Given the description of an element on the screen output the (x, y) to click on. 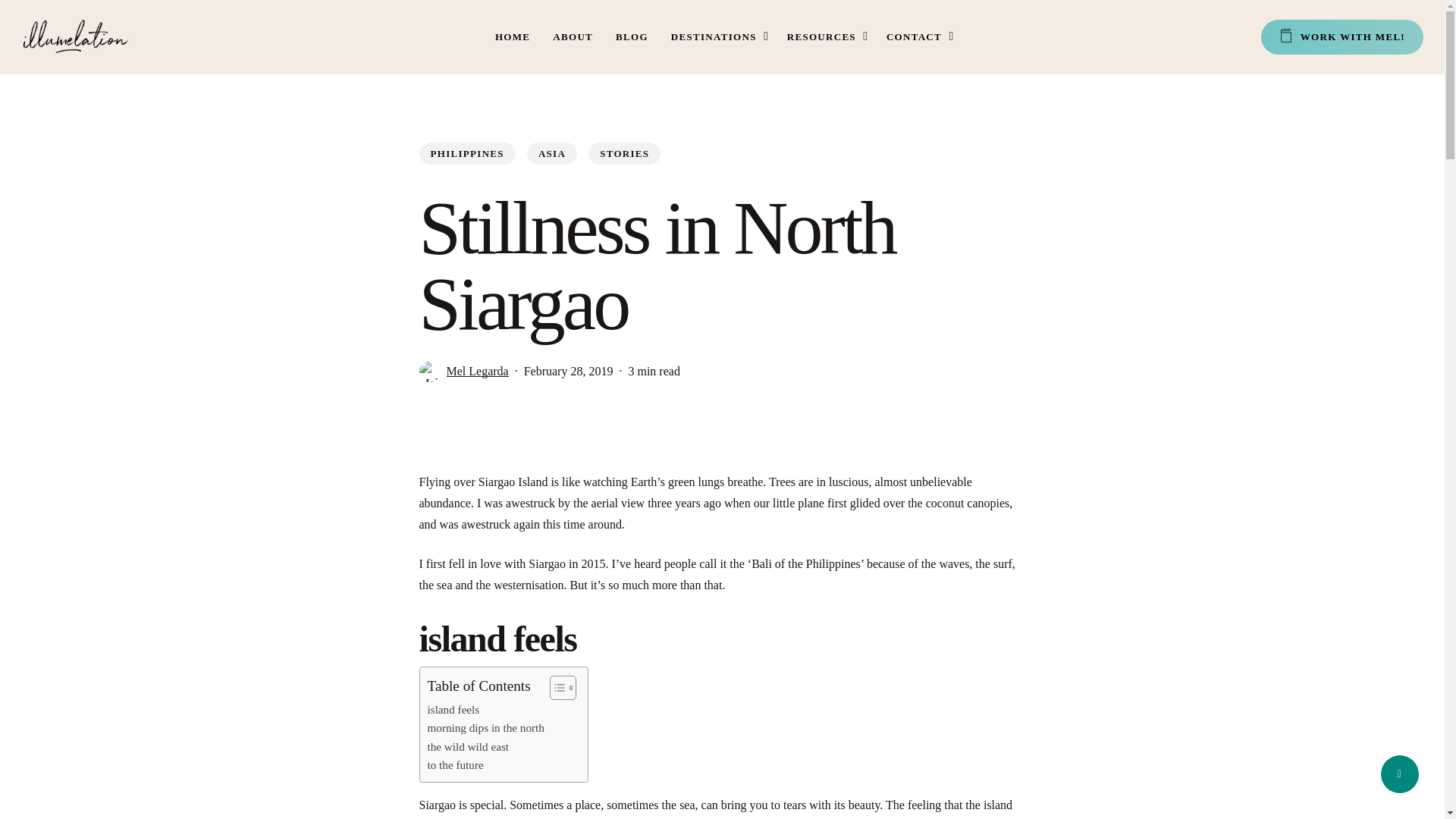
morning dips in the north (486, 728)
to the future (455, 764)
DESTINATIONS (717, 37)
HOME (512, 37)
Posts by Mel Legarda (476, 370)
island feels (454, 710)
the wild wild east (468, 746)
ABOUT (572, 37)
BLOG (631, 37)
